Given the description of an element on the screen output the (x, y) to click on. 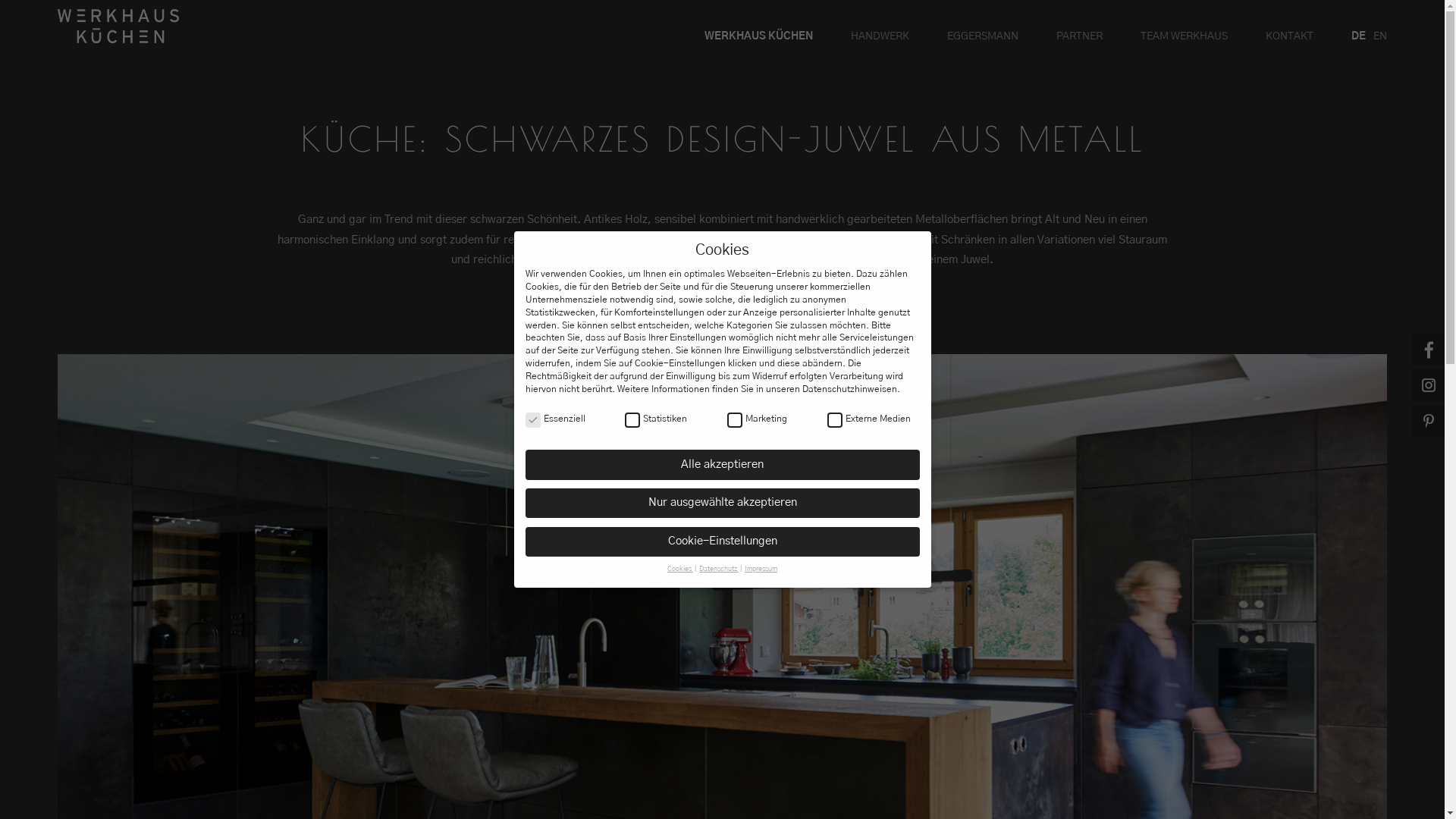
Cookies Element type: text (680, 568)
PARTNER Element type: text (1079, 36)
KONTAKT Element type: text (1289, 36)
Datenschutz Element type: text (718, 568)
Alle akzeptieren Element type: text (721, 464)
Cookie-Einstellungen Element type: text (721, 541)
Impressum Element type: text (760, 568)
EGGERSMANN Element type: text (982, 36)
DE Element type: text (1358, 36)
HANDWERK Element type: text (879, 36)
TEAM WERKHAUS Element type: text (1183, 36)
EN Element type: text (1379, 36)
